Given the description of an element on the screen output the (x, y) to click on. 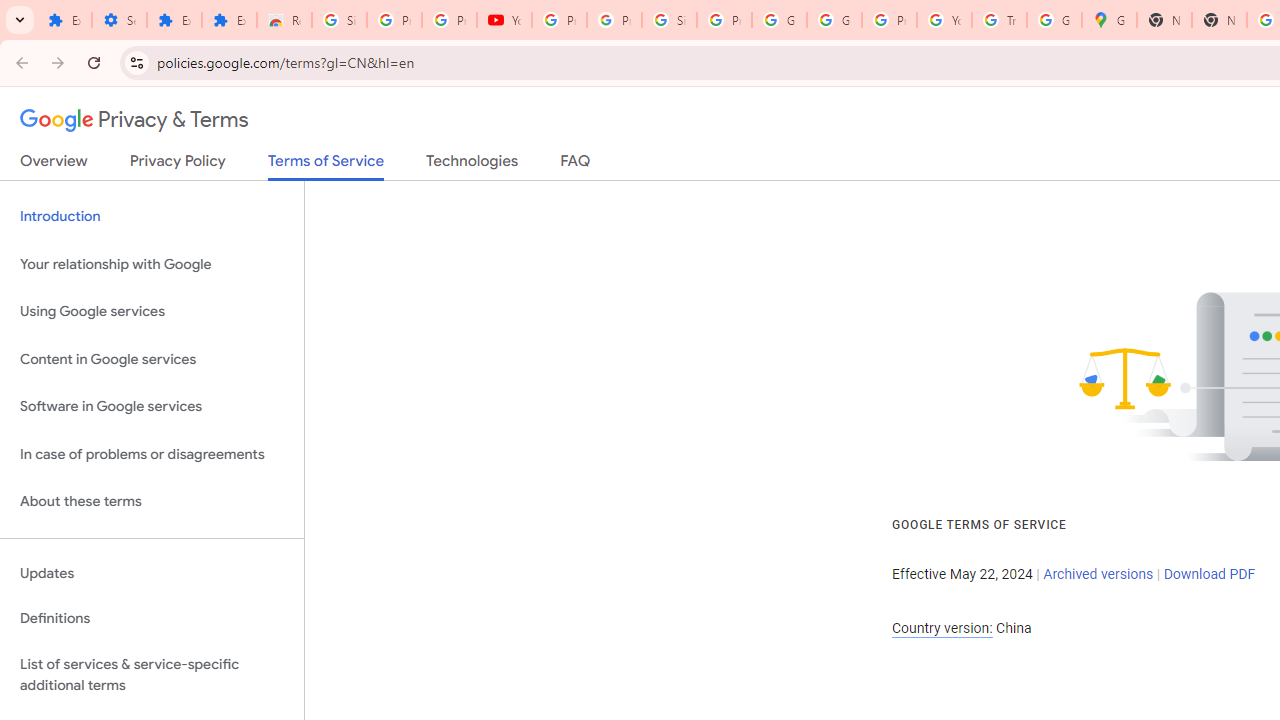
Extensions (174, 20)
Google Maps (1108, 20)
YouTube (943, 20)
Google Account (779, 20)
Country version: (942, 628)
Archived versions (1098, 574)
Sign in - Google Accounts (339, 20)
Using Google services (152, 312)
